Given the description of an element on the screen output the (x, y) to click on. 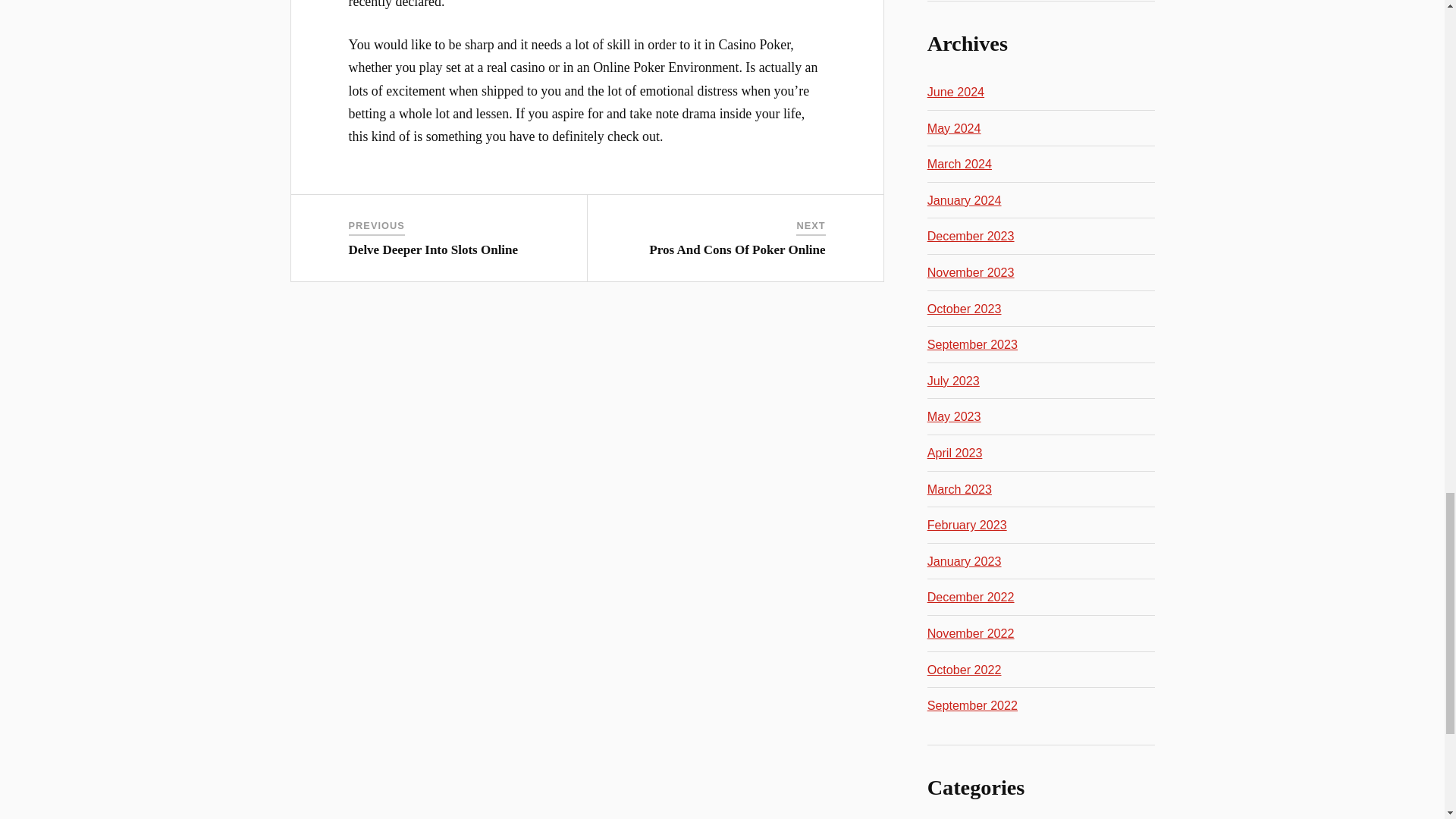
March 2024 (959, 163)
October 2023 (964, 308)
January 2024 (964, 200)
June 2024 (955, 91)
December 2023 (970, 235)
Pros And Cons Of Poker Online (737, 249)
November 2023 (970, 272)
May 2024 (954, 128)
Delve Deeper Into Slots Online (433, 249)
